Given the description of an element on the screen output the (x, y) to click on. 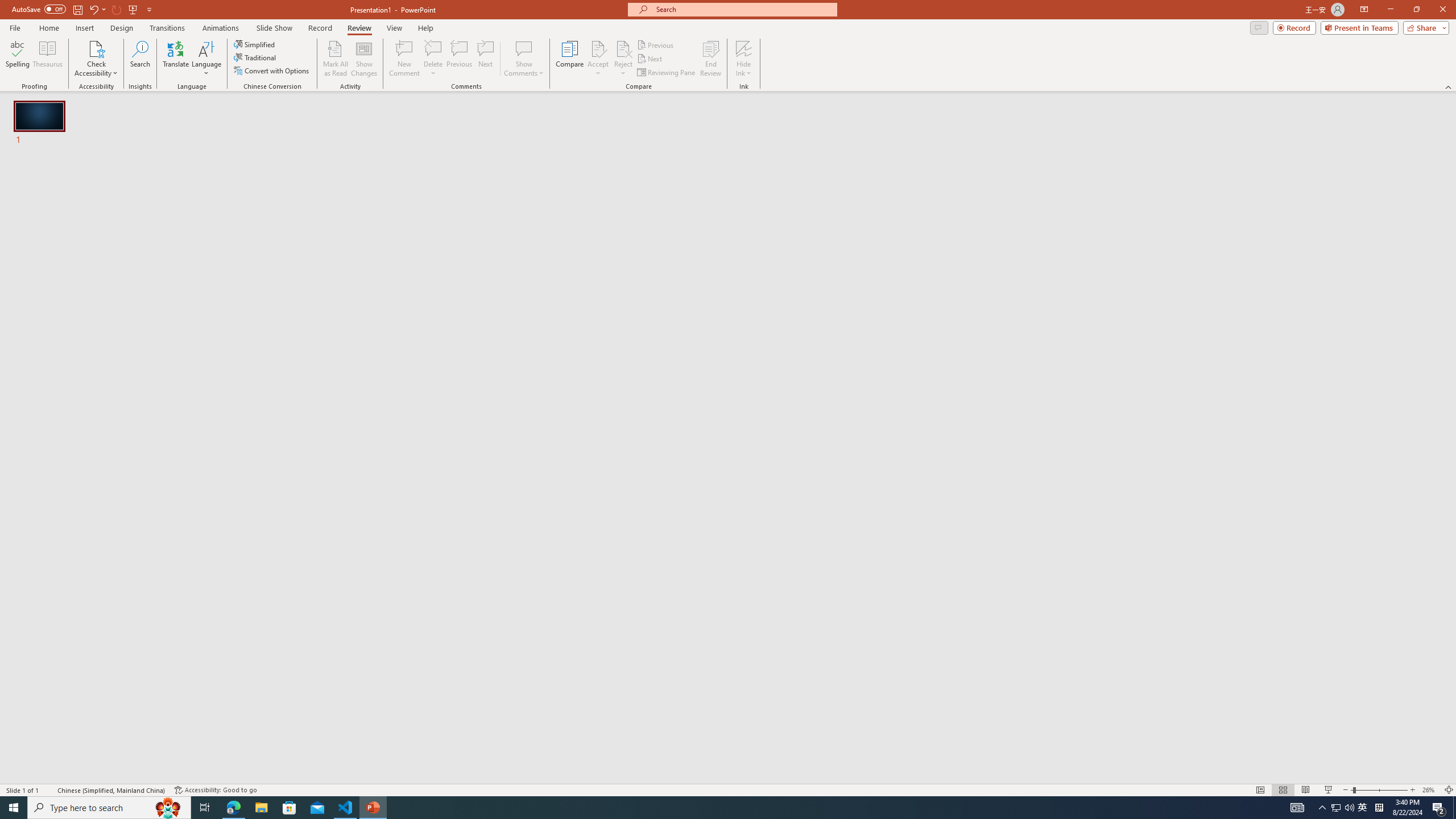
Accessibility Checker Accessibility: Good to go (216, 790)
Spell Check  (49, 790)
Language (206, 58)
